Given the description of an element on the screen output the (x, y) to click on. 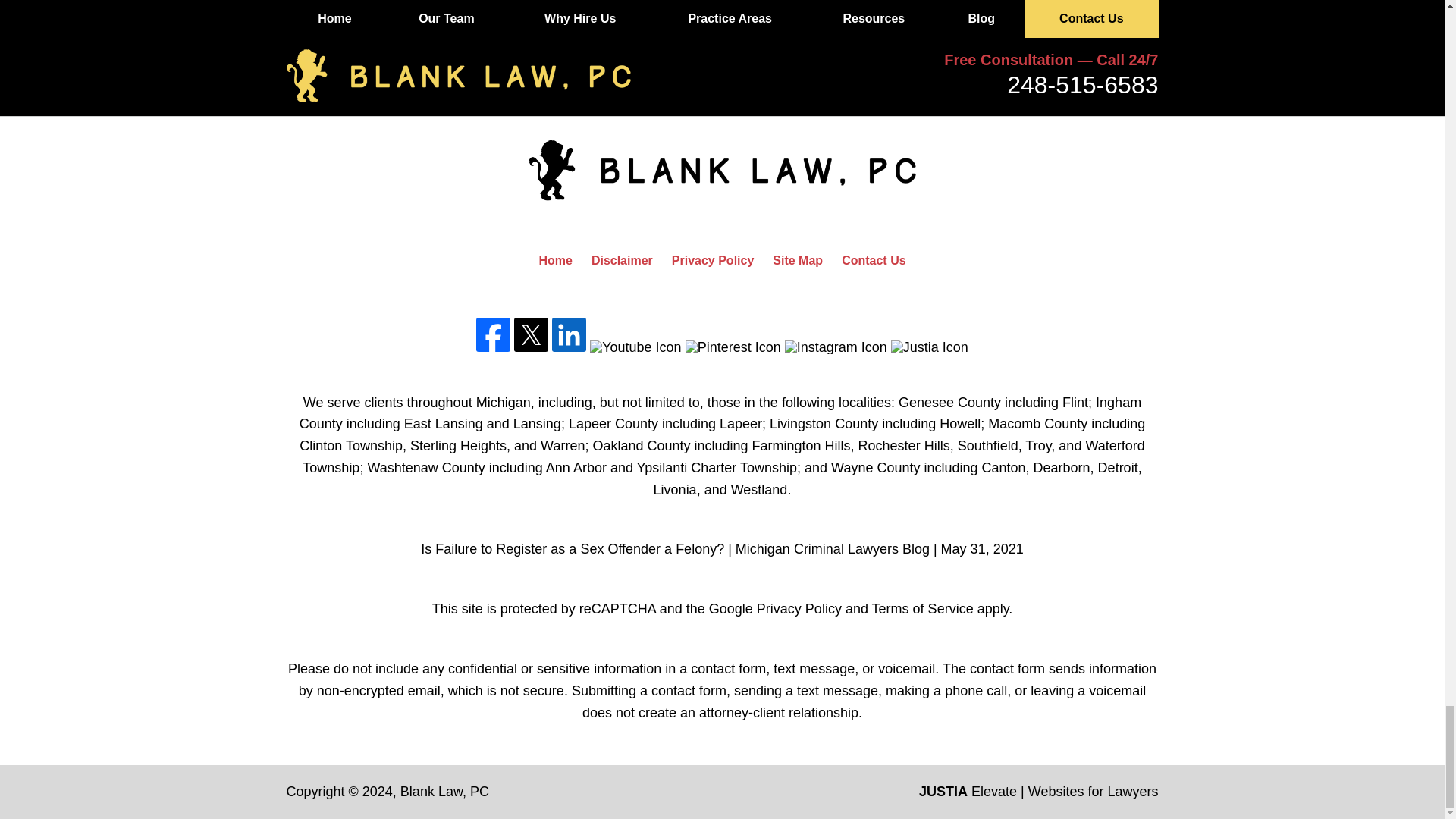
Facebook (493, 334)
Linkedin (568, 334)
Instagram (835, 345)
Twitter (530, 334)
Pinterest (732, 345)
Youtube (635, 345)
Justia (929, 345)
